Given the description of an element on the screen output the (x, y) to click on. 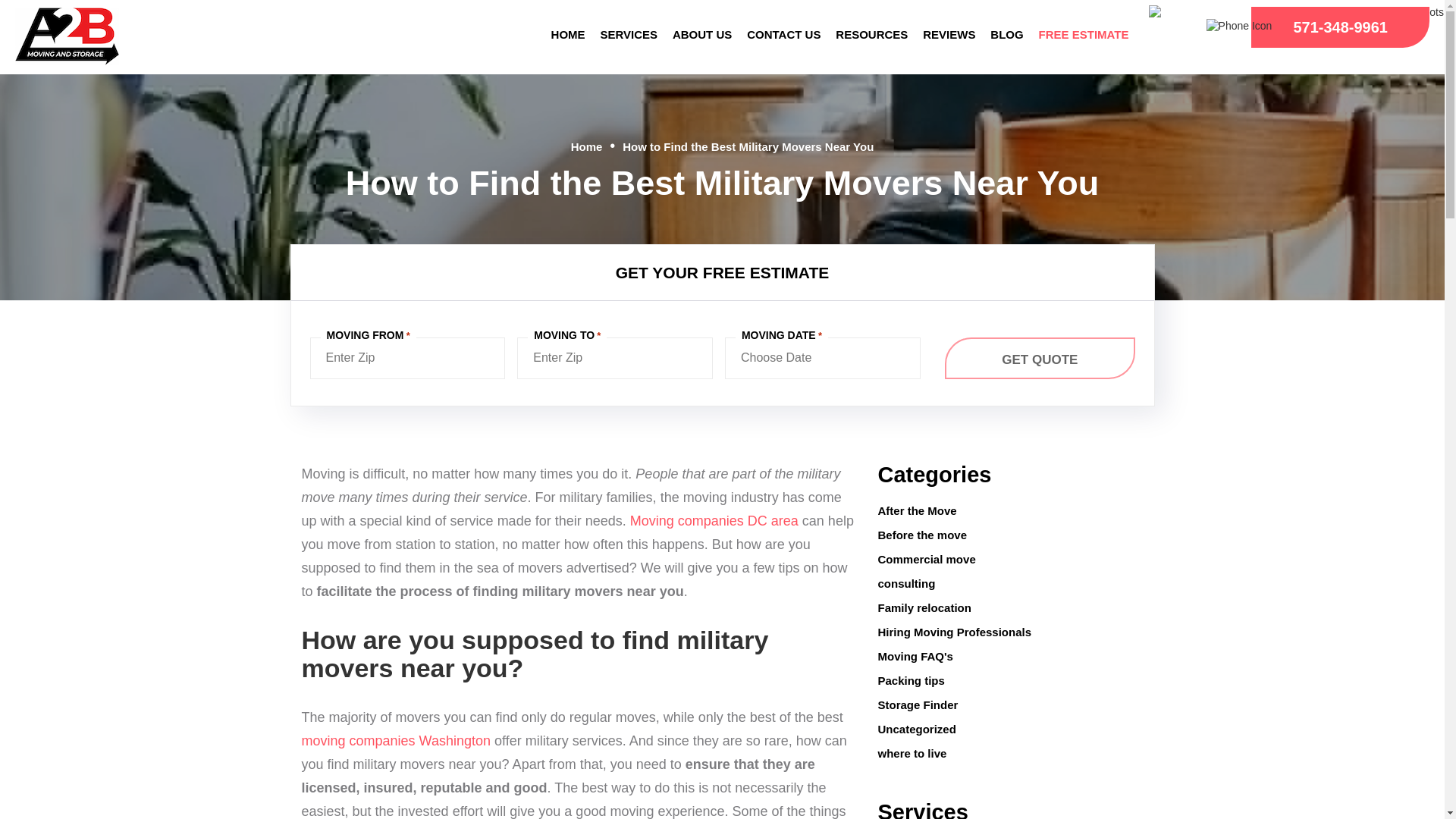
SERVICES (628, 34)
CONTACT US (784, 34)
ABOUT US (702, 34)
Get Quote (1039, 358)
RESOURCES (871, 34)
